Given the description of an element on the screen output the (x, y) to click on. 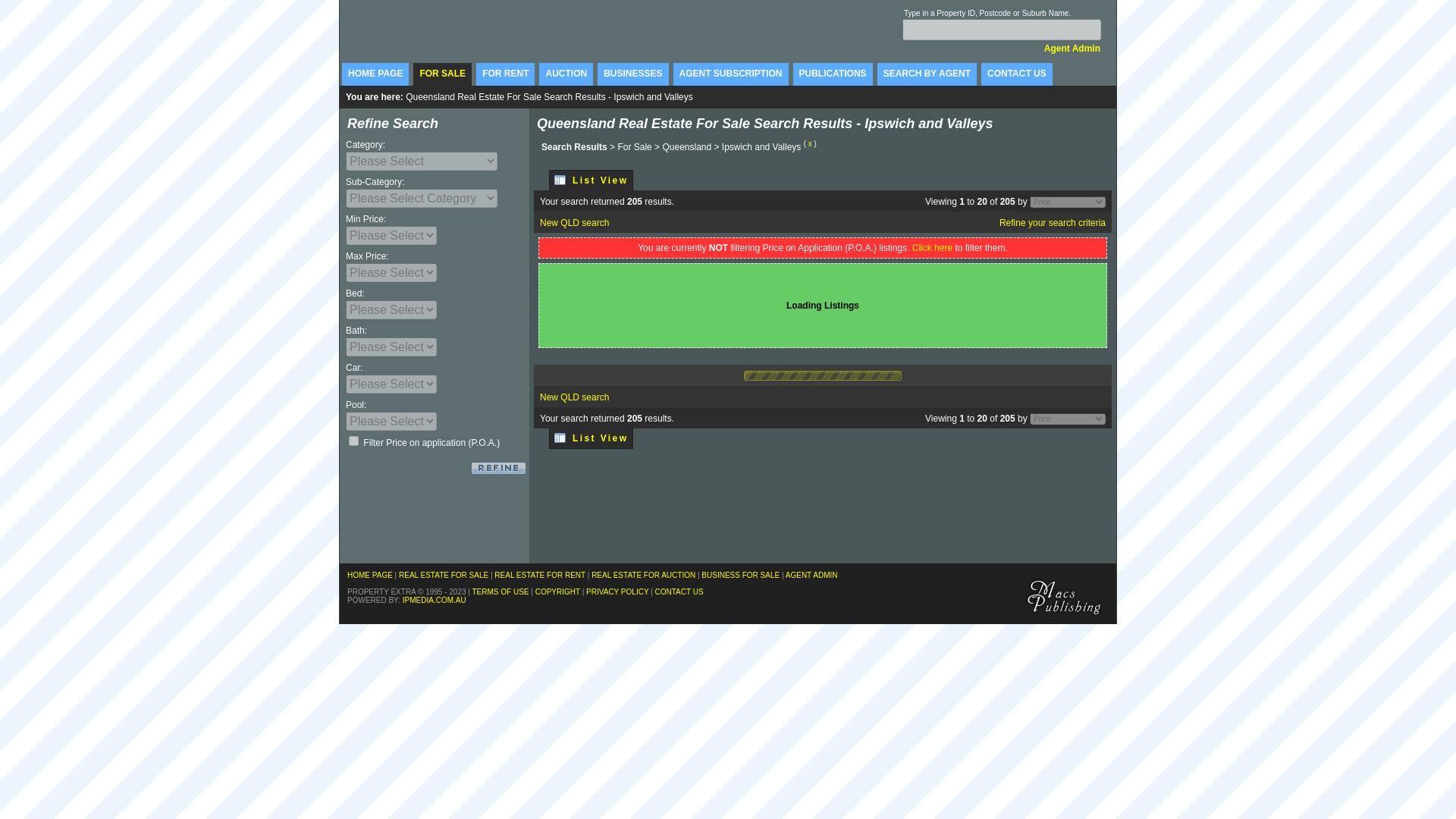
REAL ESTATE FOR AUCTION Element type: text (643, 575)
REAL ESTATE FOR RENT Element type: text (539, 575)
AGENT SUBSCRIPTION Element type: text (730, 73)
AUCTION Element type: text (565, 73)
AGENT ADMIN Element type: text (811, 575)
HOME PAGE Element type: text (375, 73)
New QLD search Element type: text (573, 222)
CONTACT US Element type: text (1016, 73)
REAL ESTATE FOR SALE Element type: text (443, 575)
Macs Publishing Element type: hover (1063, 596)
PRIVACY POLICY Element type: text (617, 591)
BUSINESSES Element type: text (632, 73)
TERMS OF USE Element type: text (499, 591)
FOR RENT Element type: text (505, 73)
FOR SALE Element type: text (442, 73)
BUSINESS FOR SALE Element type: text (740, 575)
PUBLICATIONS Element type: text (832, 73)
Click here Element type: text (932, 247)
COPYRIGHT Element type: text (557, 591)
Agent Admin Element type: text (1072, 48)
CONTACT US Element type: text (679, 591)
Refine your search criteria Element type: text (1052, 222)
Refine your search Element type: hover (498, 467)
x Element type: text (810, 143)
HOME PAGE Element type: text (369, 575)
SEARCH BY AGENT Element type: text (926, 73)
New QLD search Element type: text (573, 397)
IPMEDIA.COM.AU Element type: text (434, 600)
